Given the description of an element on the screen output the (x, y) to click on. 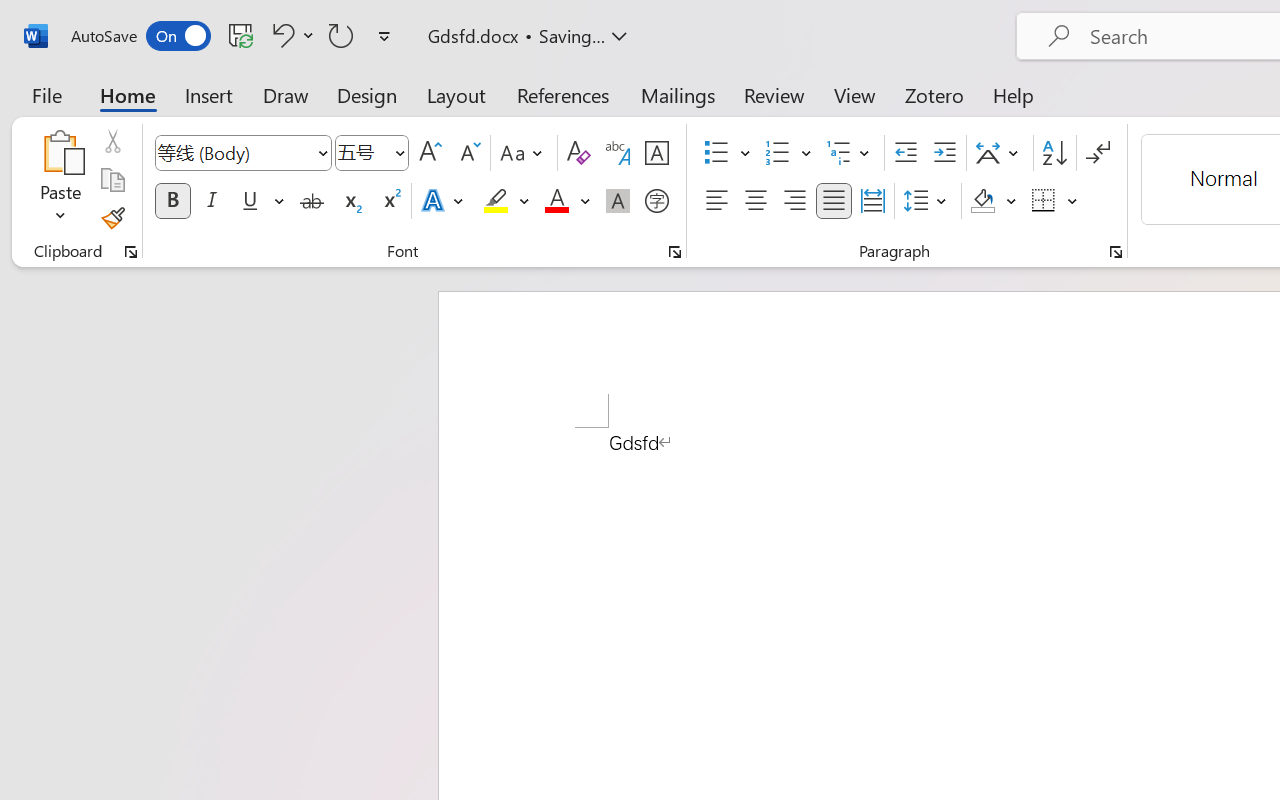
Strikethrough (312, 201)
